Given the description of an element on the screen output the (x, y) to click on. 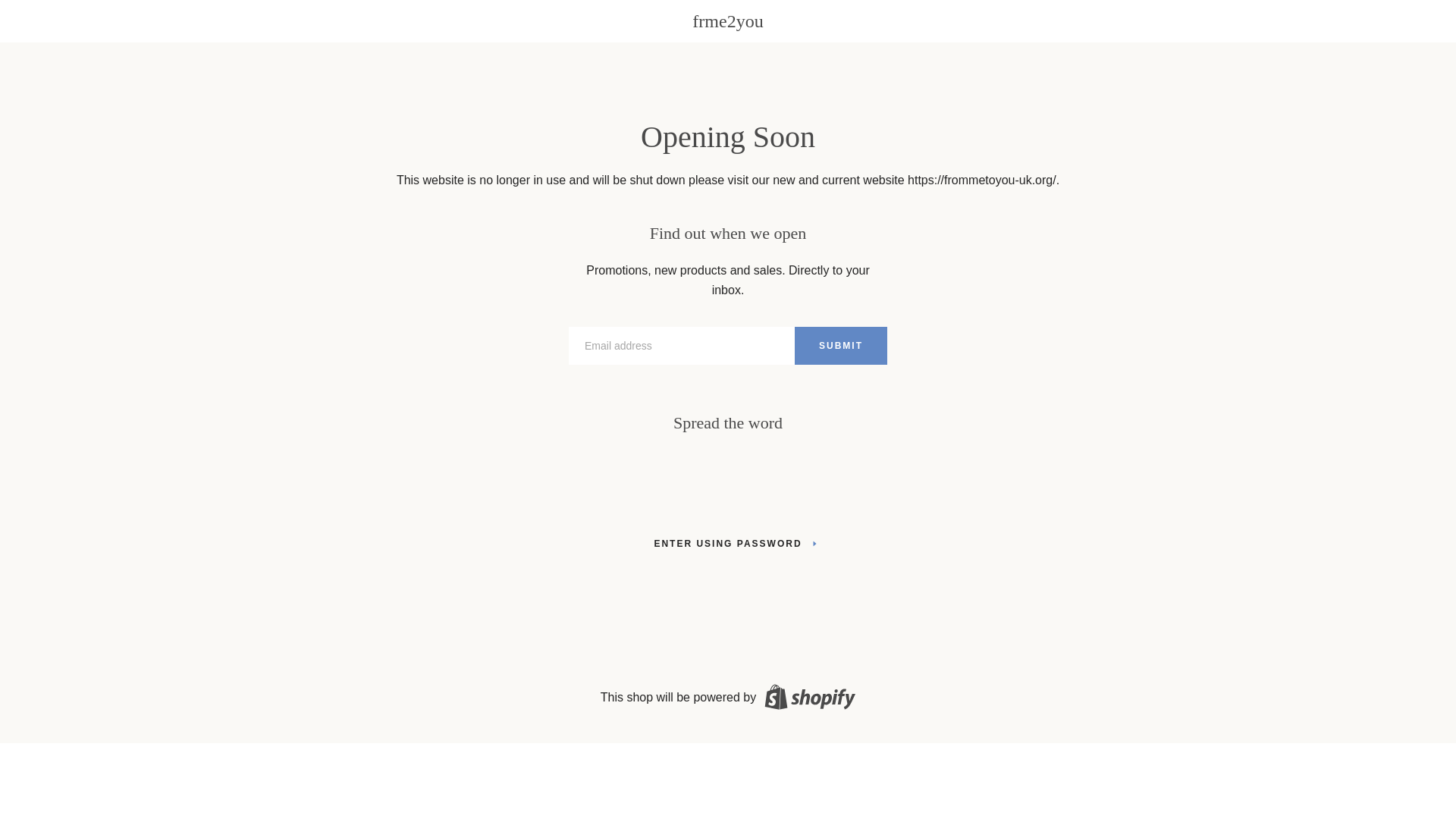
Create your own online store with Shopify (808, 697)
Shopify (808, 697)
ENTER USING PASSWORD (727, 543)
SUBMIT (840, 345)
